Given the description of an element on the screen output the (x, y) to click on. 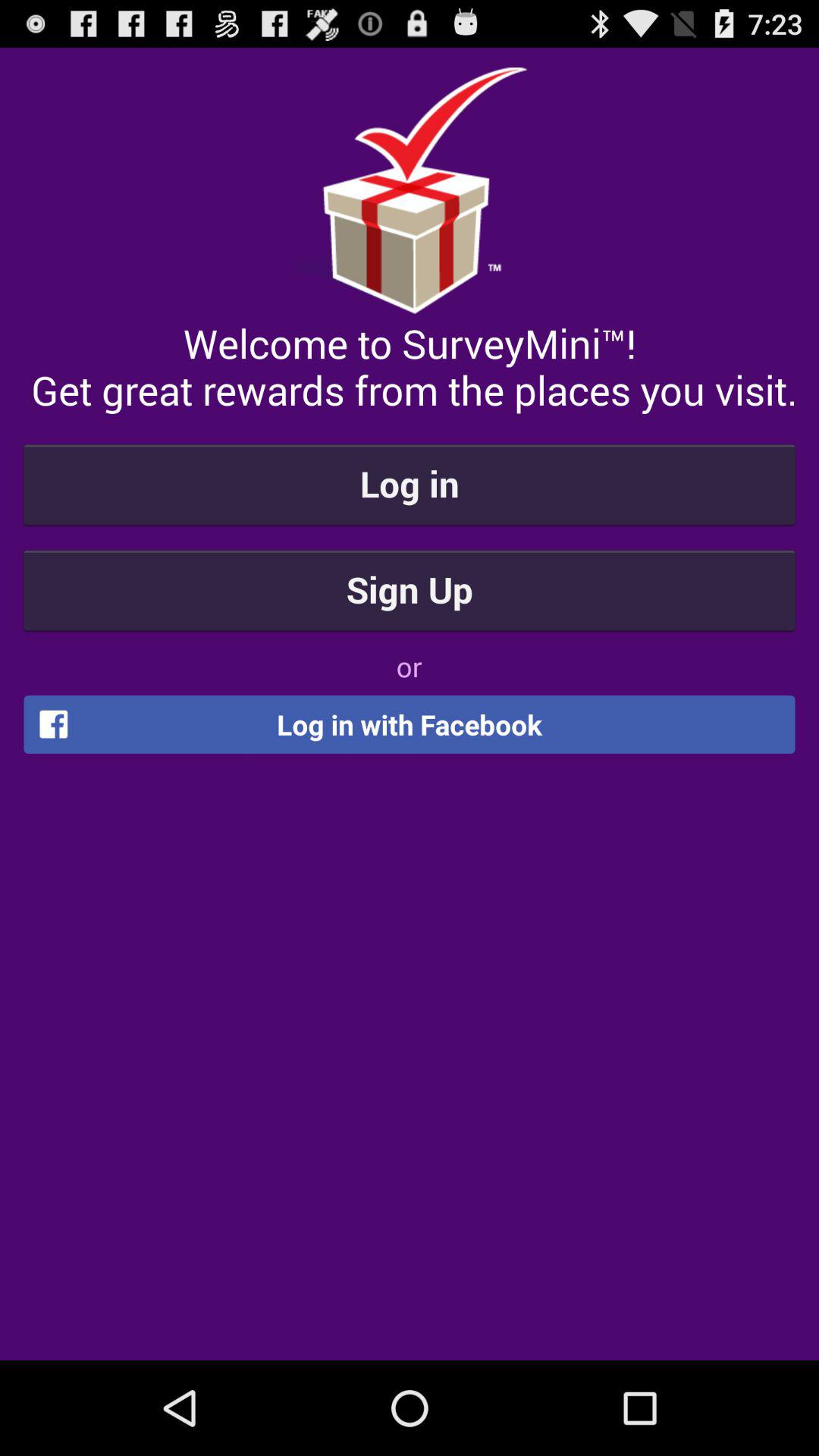
launch item above the or icon (409, 589)
